Given the description of an element on the screen output the (x, y) to click on. 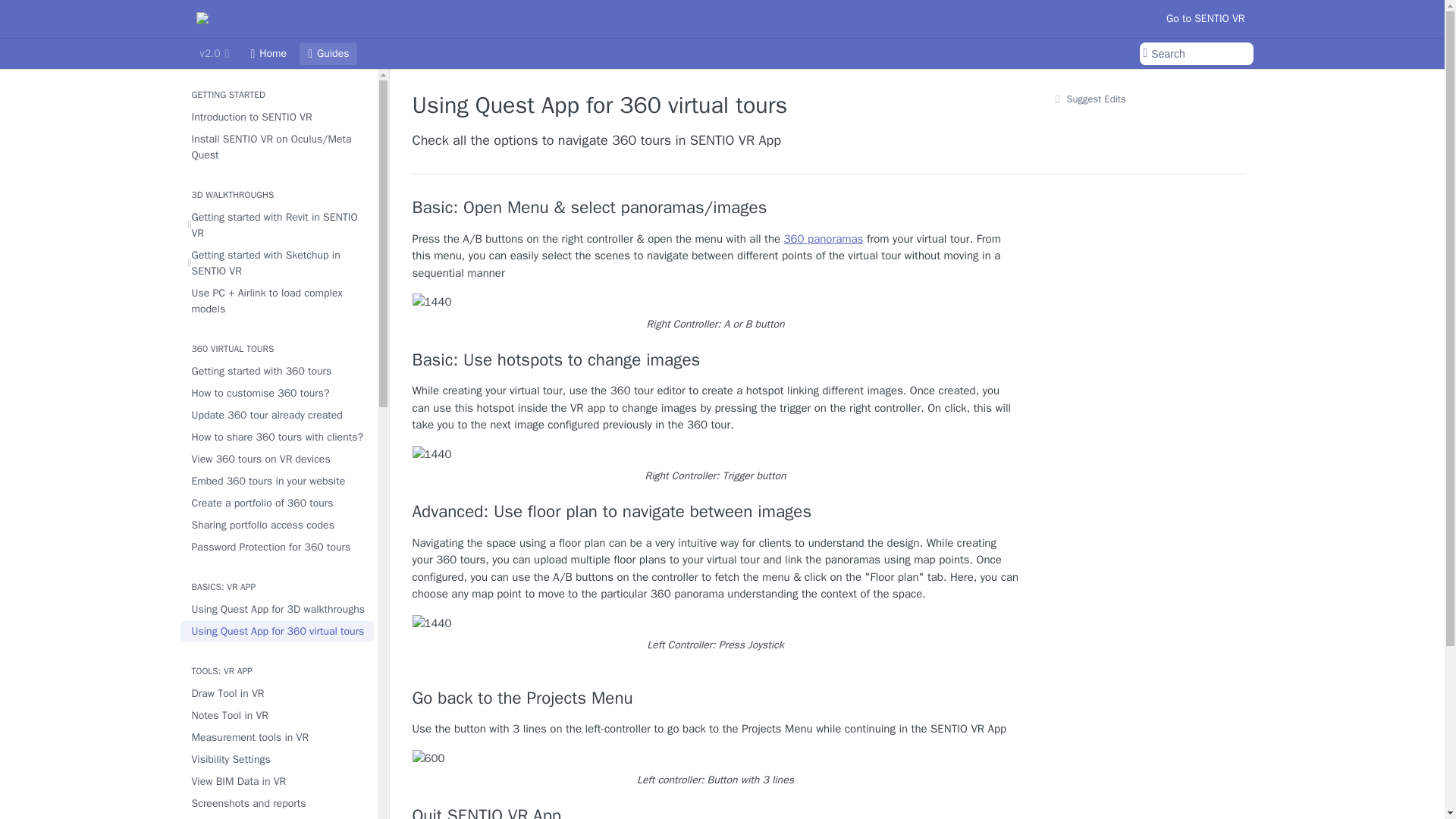
Go back to the Projects Menu (715, 698)
Draw Tool in VR (277, 693)
scenes menu.jpg (431, 302)
Sharing portfolio access codes (277, 525)
go back to projects.gif (428, 757)
Getting started with Sketchup in SENTIO VR (277, 262)
v2.0 (213, 53)
Create a portfolio of 360 tours (277, 503)
Embed 360 tours in your website (277, 480)
Guides (327, 53)
